Given the description of an element on the screen output the (x, y) to click on. 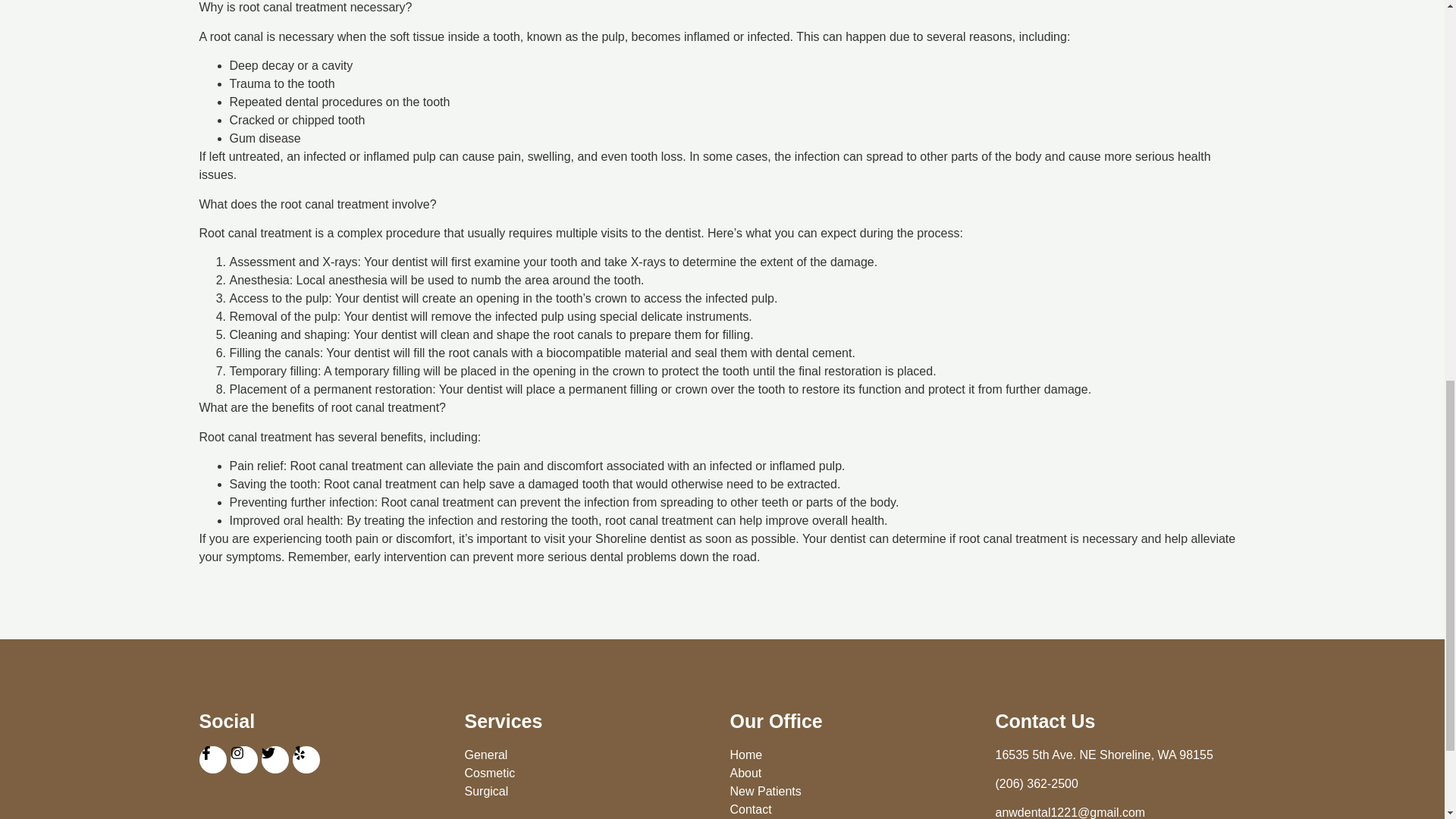
Contact (854, 809)
Home (854, 755)
About (854, 773)
New Patients (854, 791)
